Given the description of an element on the screen output the (x, y) to click on. 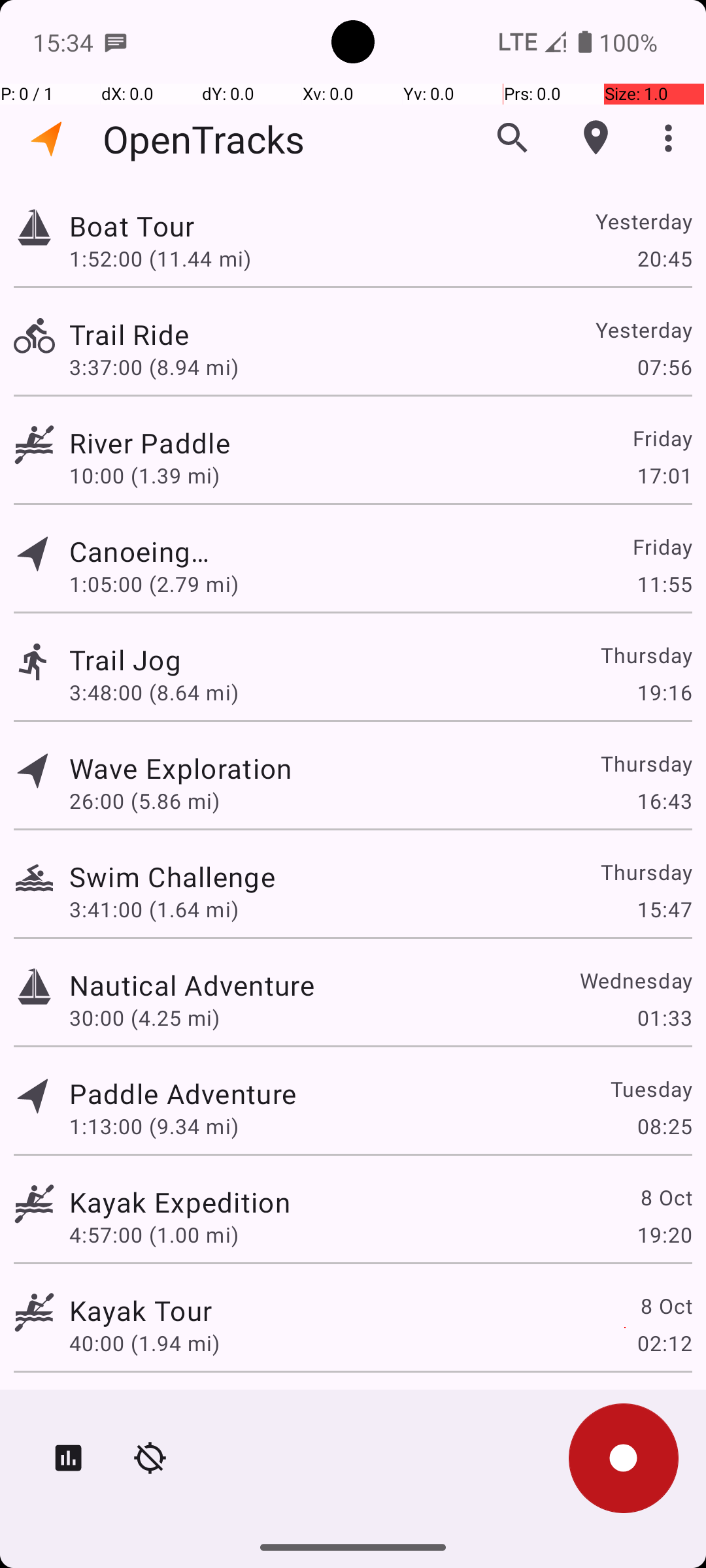
Boat Tour Element type: android.widget.TextView (191, 225)
1:52:00 (11.44 mi) Element type: android.widget.TextView (159, 258)
20:45 Element type: android.widget.TextView (664, 258)
Trail Ride Element type: android.widget.TextView (182, 333)
3:37:00 (8.94 mi) Element type: android.widget.TextView (153, 366)
07:56 Element type: android.widget.TextView (664, 366)
River Paddle Element type: android.widget.TextView (179, 442)
10:00 (1.39 mi) Element type: android.widget.TextView (153, 475)
17:01 Element type: android.widget.TextView (664, 475)
Canoeing Adventure Element type: android.widget.TextView (140, 550)
1:05:00 (2.79 mi) Element type: android.widget.TextView (153, 583)
11:55 Element type: android.widget.TextView (664, 583)
Trail Jog Element type: android.widget.TextView (182, 659)
3:48:00 (8.64 mi) Element type: android.widget.TextView (153, 692)
19:16 Element type: android.widget.TextView (664, 692)
Wave Exploration Element type: android.widget.TextView (180, 767)
26:00 (5.86 mi) Element type: android.widget.TextView (144, 800)
16:43 Element type: android.widget.TextView (664, 800)
Swim Challenge Element type: android.widget.TextView (171, 876)
3:41:00 (1.64 mi) Element type: android.widget.TextView (153, 909)
15:47 Element type: android.widget.TextView (664, 909)
Nautical Adventure Element type: android.widget.TextView (191, 984)
30:00 (4.25 mi) Element type: android.widget.TextView (144, 1017)
01:33 Element type: android.widget.TextView (664, 1017)
Paddle Adventure Element type: android.widget.TextView (182, 1092)
1:13:00 (9.34 mi) Element type: android.widget.TextView (153, 1125)
08:25 Element type: android.widget.TextView (664, 1125)
Kayak Expedition Element type: android.widget.TextView (179, 1201)
4:57:00 (1.00 mi) Element type: android.widget.TextView (153, 1234)
19:20 Element type: android.widget.TextView (664, 1234)
Kayak Tour Element type: android.widget.TextView (140, 1309)
40:00 (1.94 mi) Element type: android.widget.TextView (144, 1342)
02:12 Element type: android.widget.TextView (664, 1342)
Freestyle Session Element type: android.widget.TextView (182, 1408)
6 Oct Element type: android.widget.TextView (665, 1408)
